Given the description of an element on the screen output the (x, y) to click on. 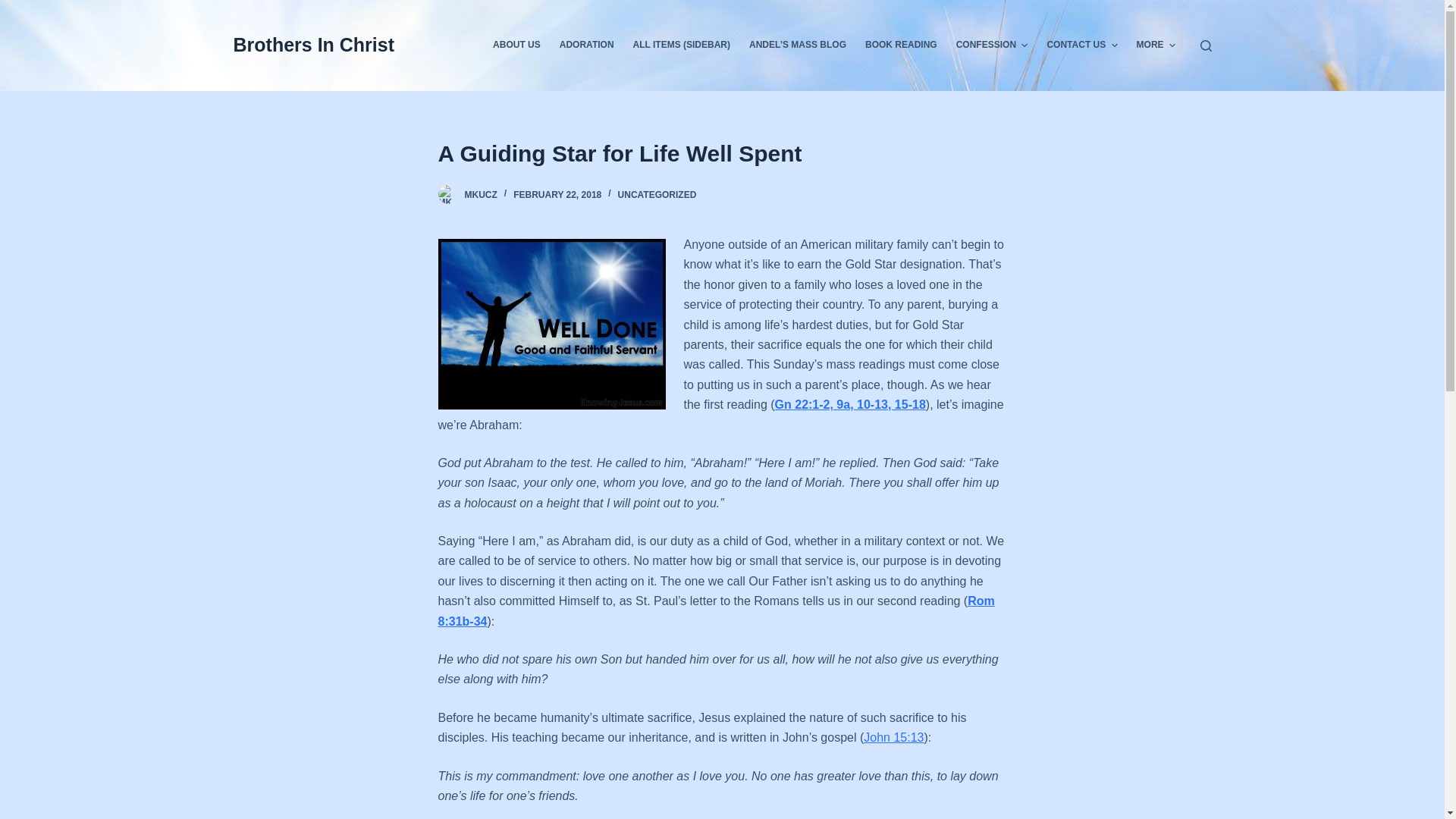
A Guiding Star for Life Well Spent (722, 153)
Skip to content (15, 7)
Posts by mkucz (480, 194)
